Given the description of an element on the screen output the (x, y) to click on. 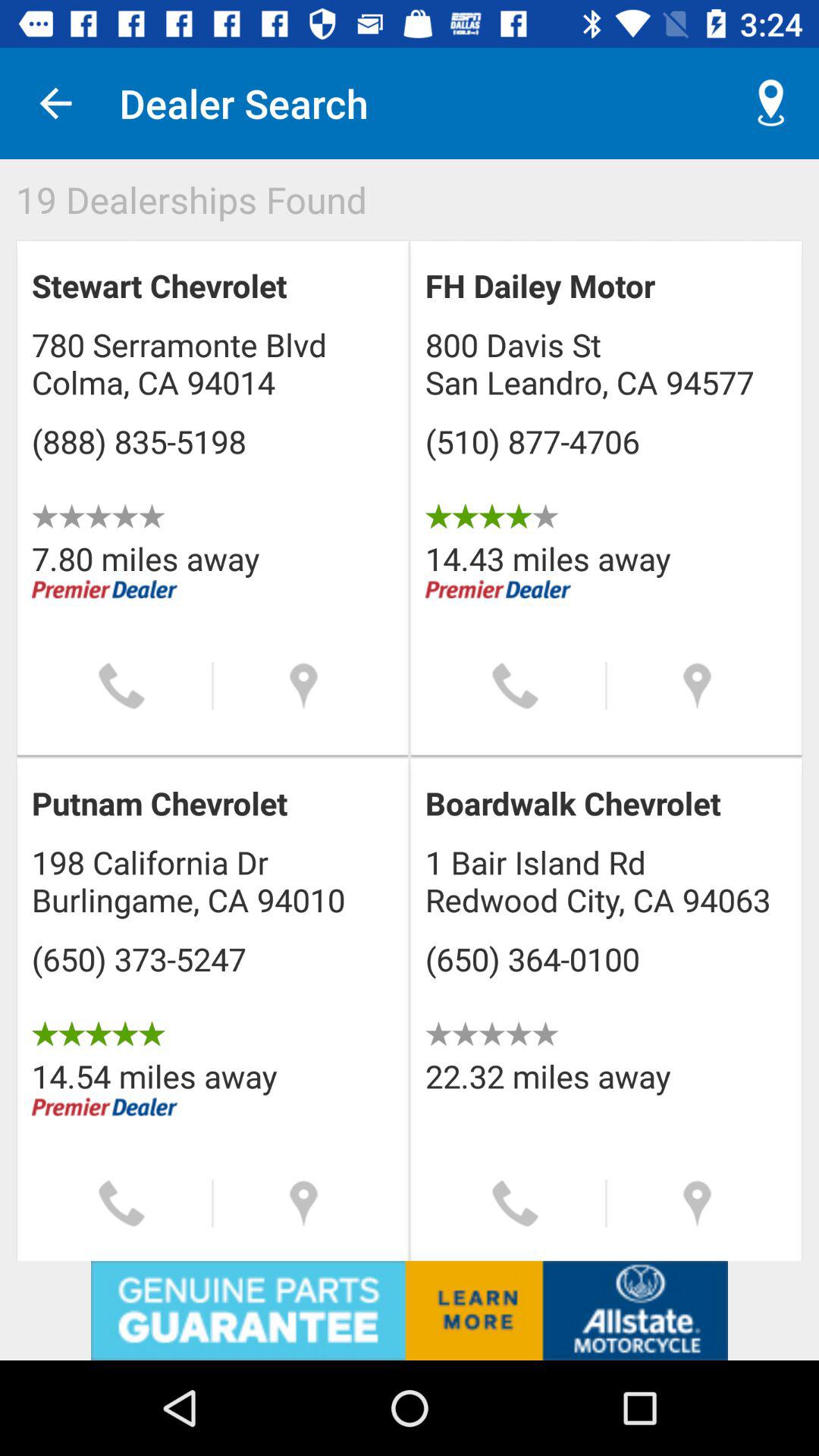
visit advertiser (409, 1310)
